Given the description of an element on the screen output the (x, y) to click on. 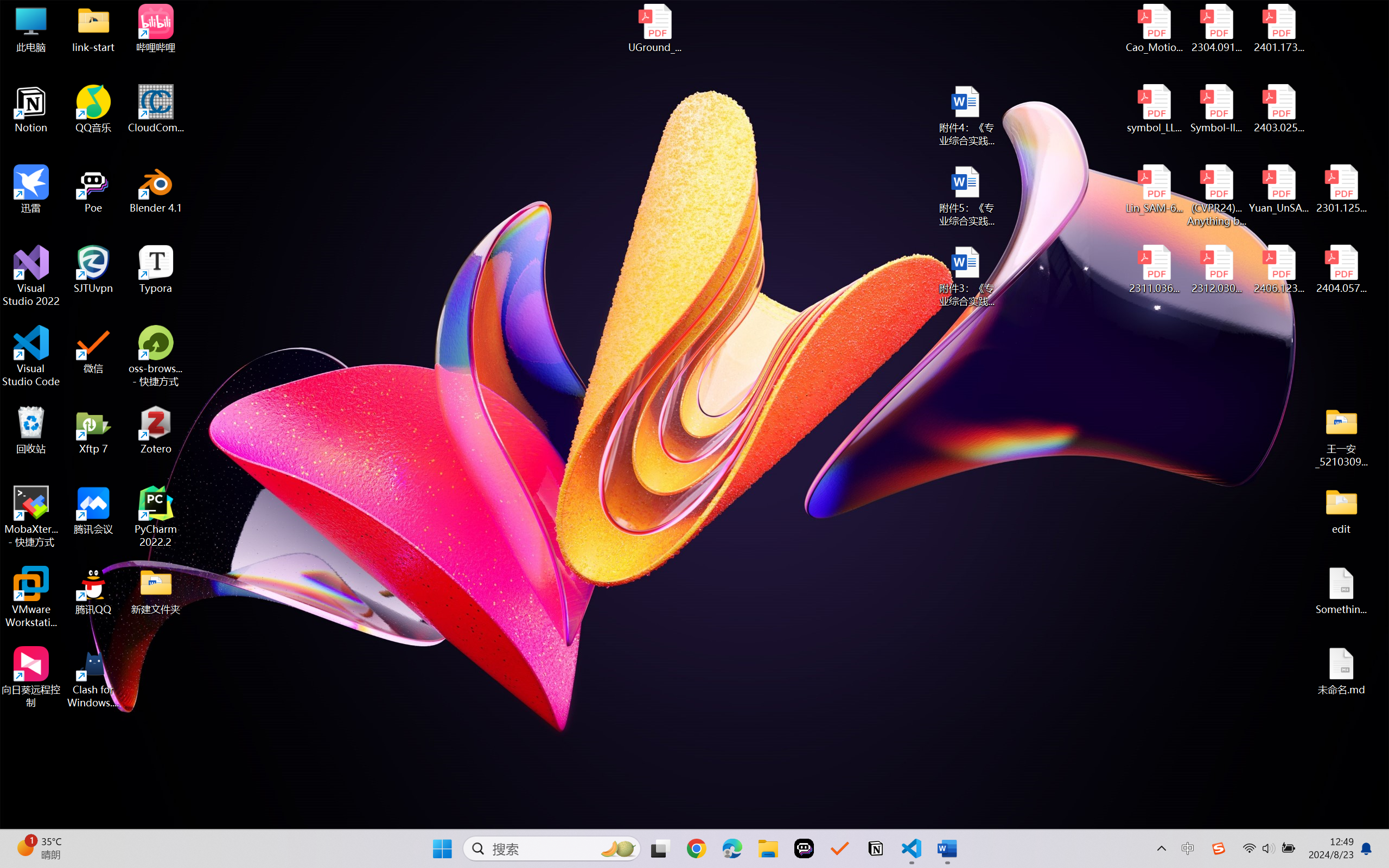
Typora (156, 269)
2401.17399v1.pdf (1278, 28)
PyCharm 2022.2 (156, 516)
Visual Studio 2022 (31, 276)
CloudCompare (156, 109)
